Given the description of an element on the screen output the (x, y) to click on. 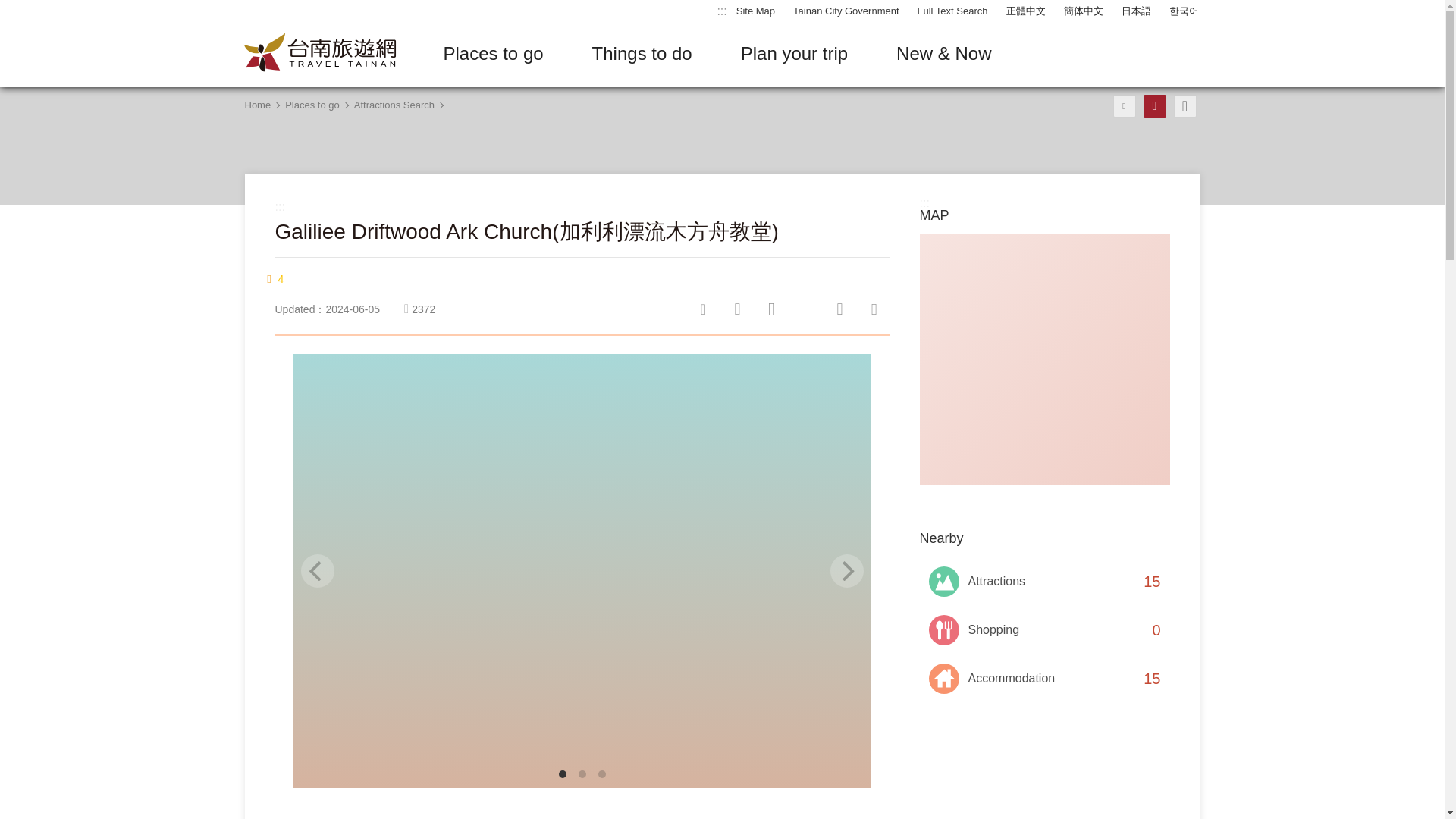
Full Text Search (952, 11)
Tainan Travel (319, 53)
Tainan City Government (845, 11)
Things to do (641, 53)
Places to go (493, 53)
Site Map (755, 11)
Full Text Search (952, 11)
Tainan Travel (319, 53)
Site Map (755, 11)
